Given the description of an element on the screen output the (x, y) to click on. 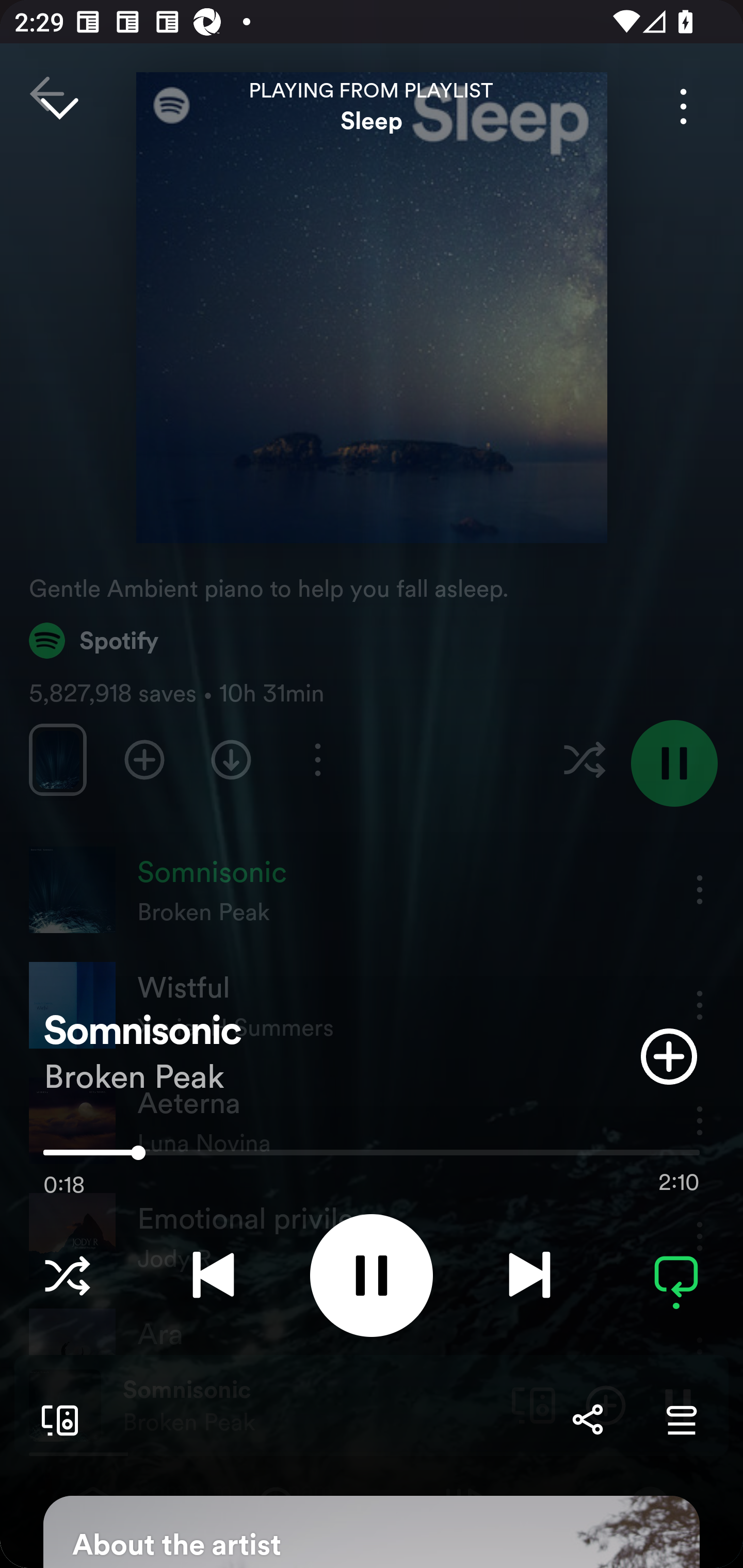
Close (59, 106)
More options for song Somnisonic (683, 106)
PLAYING FROM PLAYLIST Sleep (371, 106)
Add item (669, 1056)
0:18 2:10 18505.0 Use volume keys to adjust (371, 1157)
Pause (371, 1275)
Previous (212, 1275)
Next (529, 1275)
Choose a Listening Mode (66, 1275)
Repeat (676, 1275)
Share (587, 1419)
Go to Queue (681, 1419)
Connect to a device. Opens the devices menu (55, 1419)
About the artist (371, 1531)
